Given the description of an element on the screen output the (x, y) to click on. 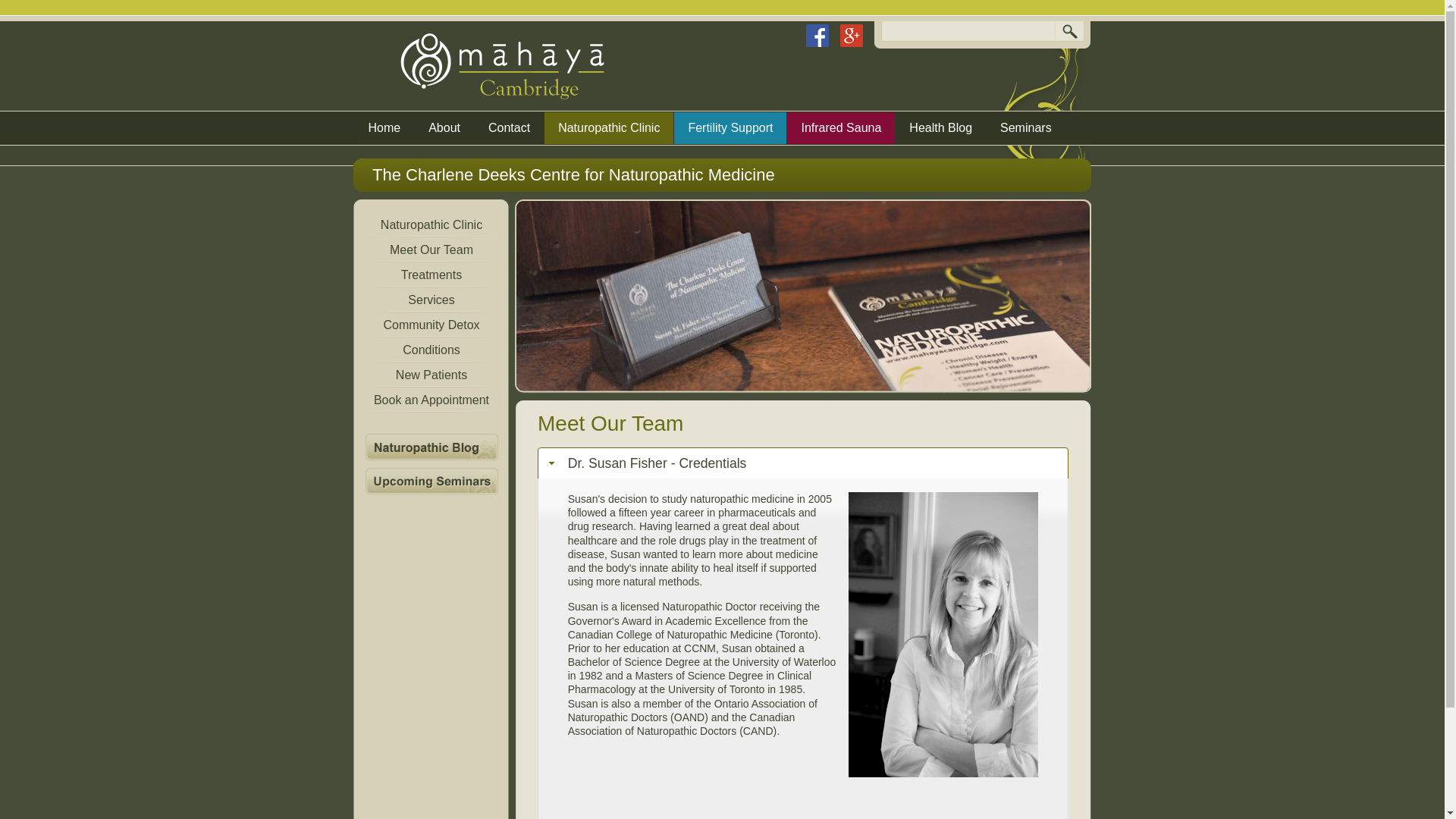
Health Blog (940, 128)
Naturopathic Clinic (430, 224)
Home (384, 128)
Services (430, 299)
Fertility Support (730, 128)
Meet Our Team (430, 249)
Naturopathic Clinic (608, 128)
Treatments (430, 274)
About (444, 128)
Conditions (430, 349)
Contact (508, 128)
Community Detox (430, 324)
New Patients (430, 374)
Infrared Sauna (841, 128)
Dr. Susan Fisher - Credentials (802, 462)
